Given the description of an element on the screen output the (x, y) to click on. 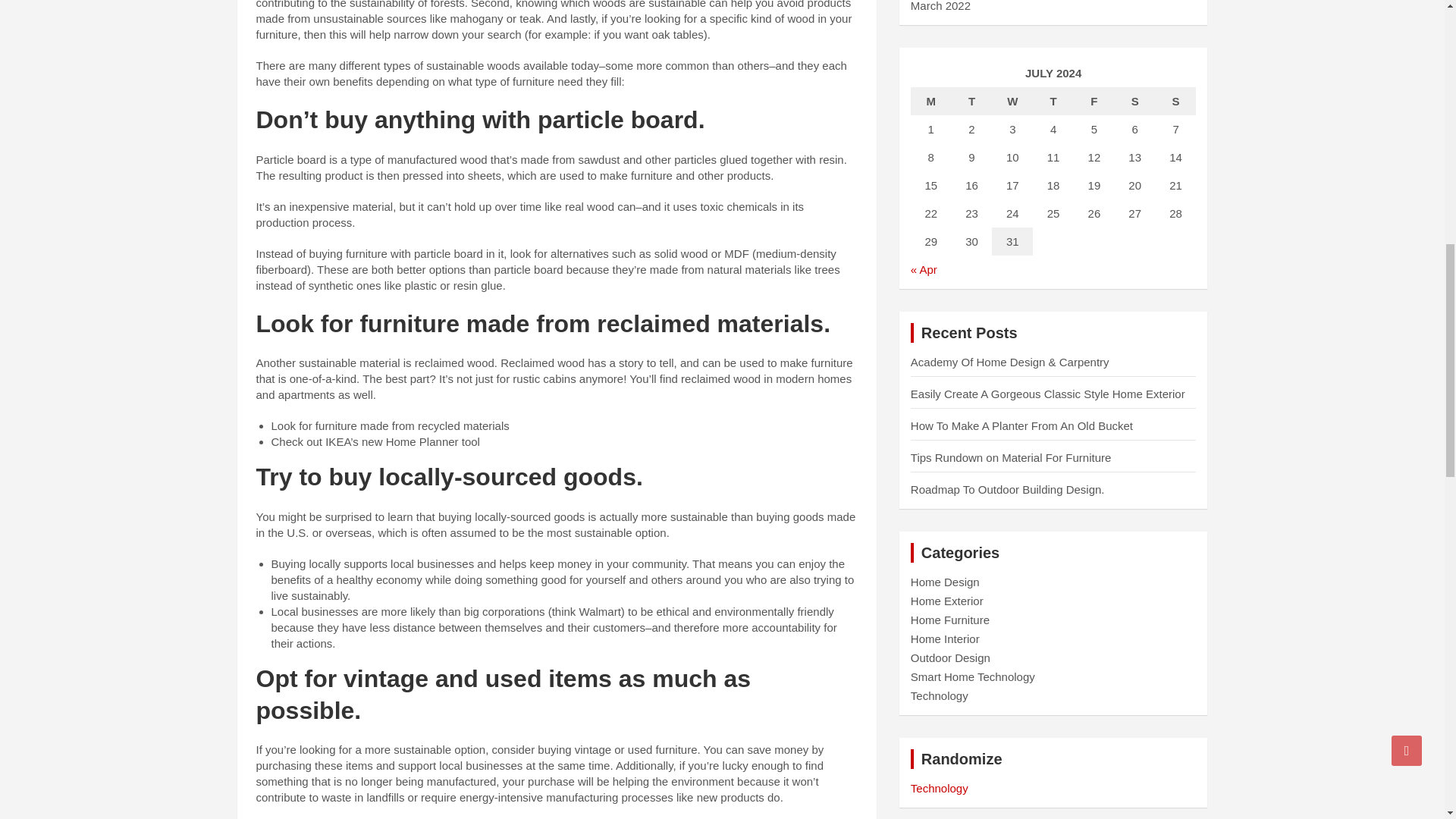
Thursday (1053, 100)
Friday (1094, 100)
Tuesday (972, 100)
Wednesday (1011, 100)
Monday (931, 100)
